Given the description of an element on the screen output the (x, y) to click on. 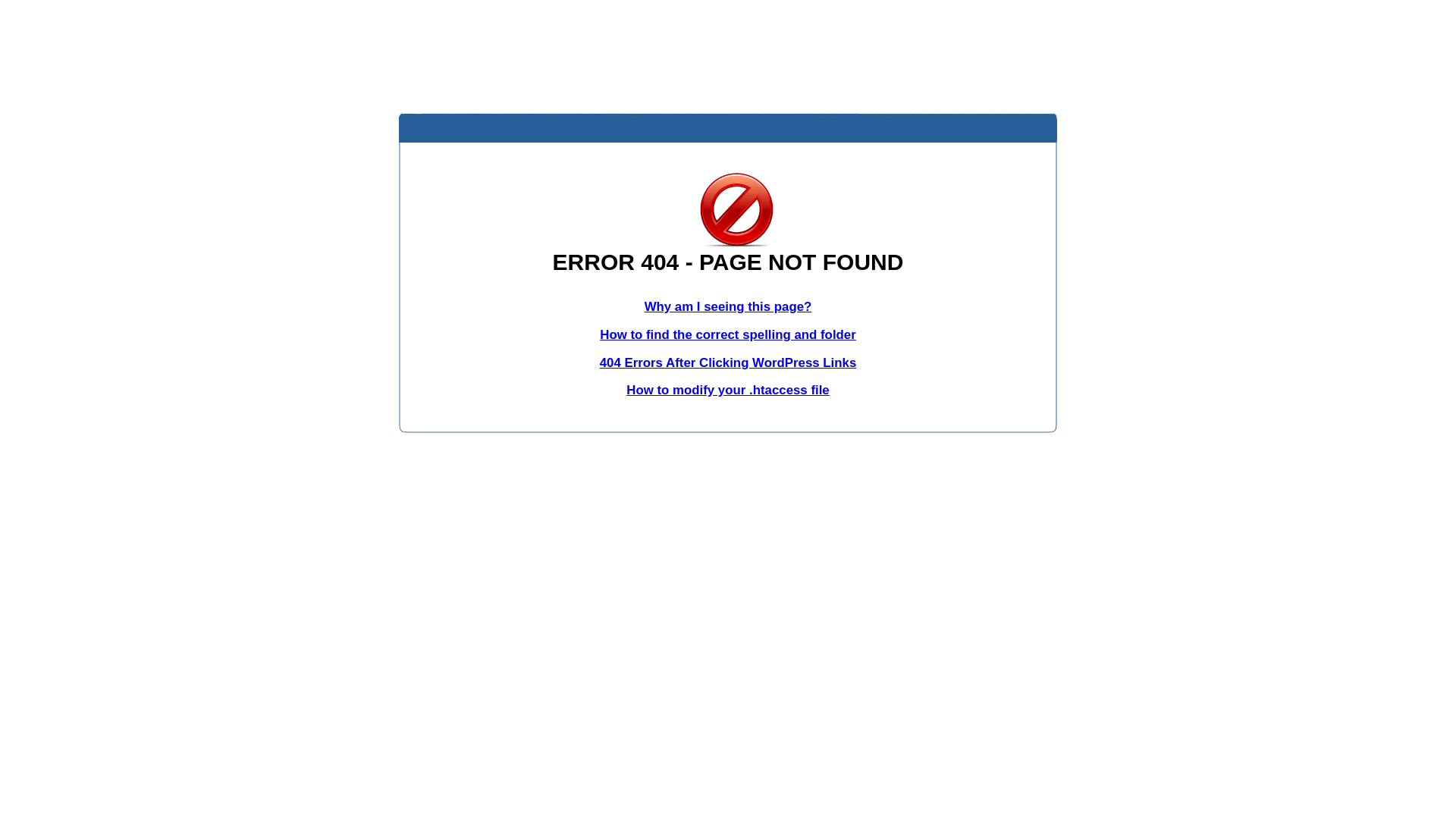
Why am I seeing this page? Element type: text (728, 306)
How to find the correct spelling and folder Element type: text (727, 334)
404 Errors After Clicking WordPress Links Element type: text (727, 362)
How to modify your .htaccess file Element type: text (727, 389)
